Given the description of an element on the screen output the (x, y) to click on. 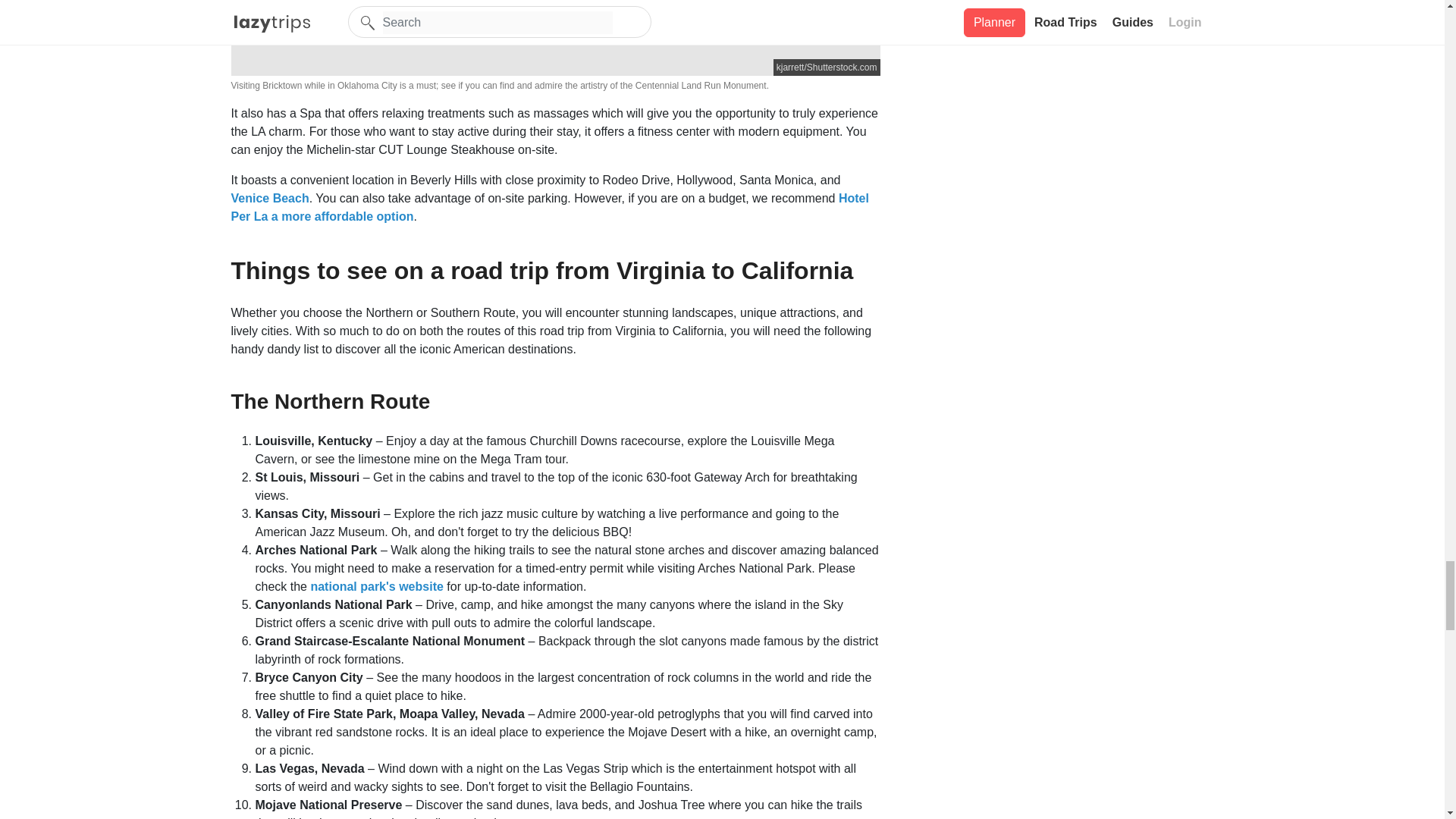
Hotel Per La a more affordable option (548, 206)
national park's website (376, 585)
Venice Beach (269, 197)
